Given the description of an element on the screen output the (x, y) to click on. 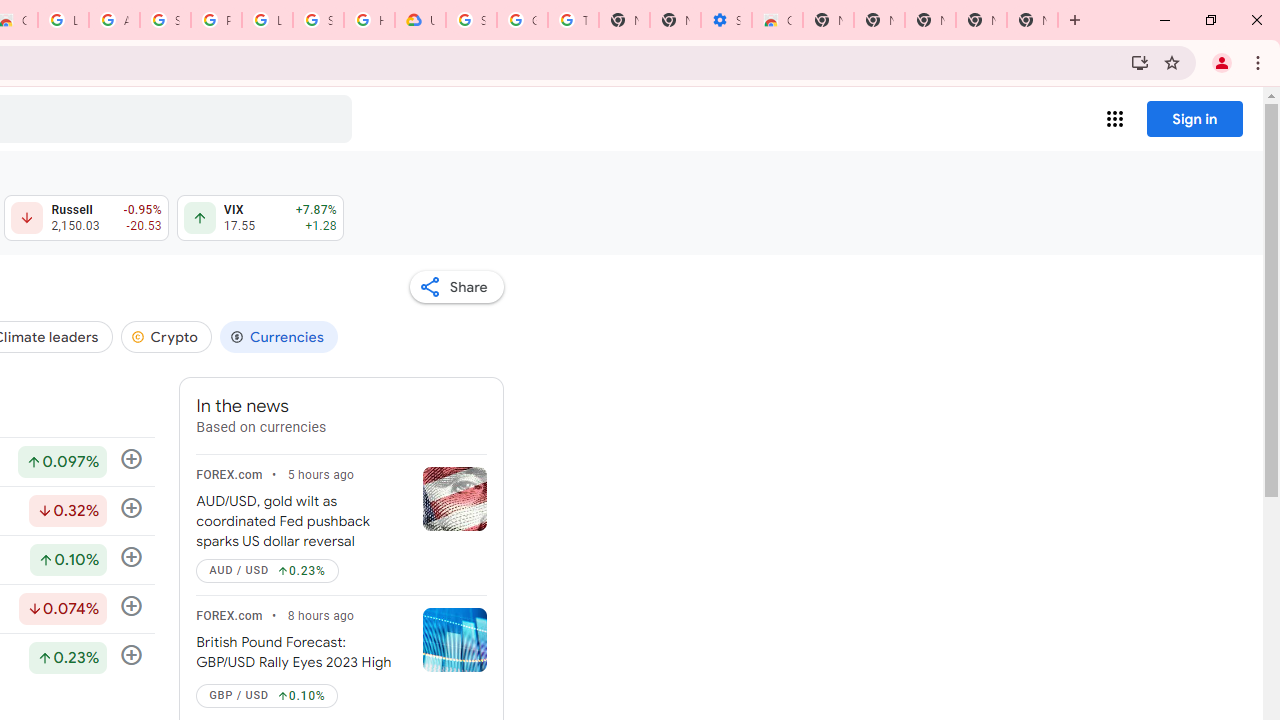
New Tab (827, 20)
Russell 2,150.03 Down by 0.95% -20.53 (85, 218)
Crypto (166, 336)
Turn cookies on or off - Computer - Google Account Help (573, 20)
Follow (131, 655)
GBP / USD Up by 0.077% (267, 695)
AUD / USD Up by 0.22% (267, 570)
Sign in - Google Accounts (318, 20)
